Given the description of an element on the screen output the (x, y) to click on. 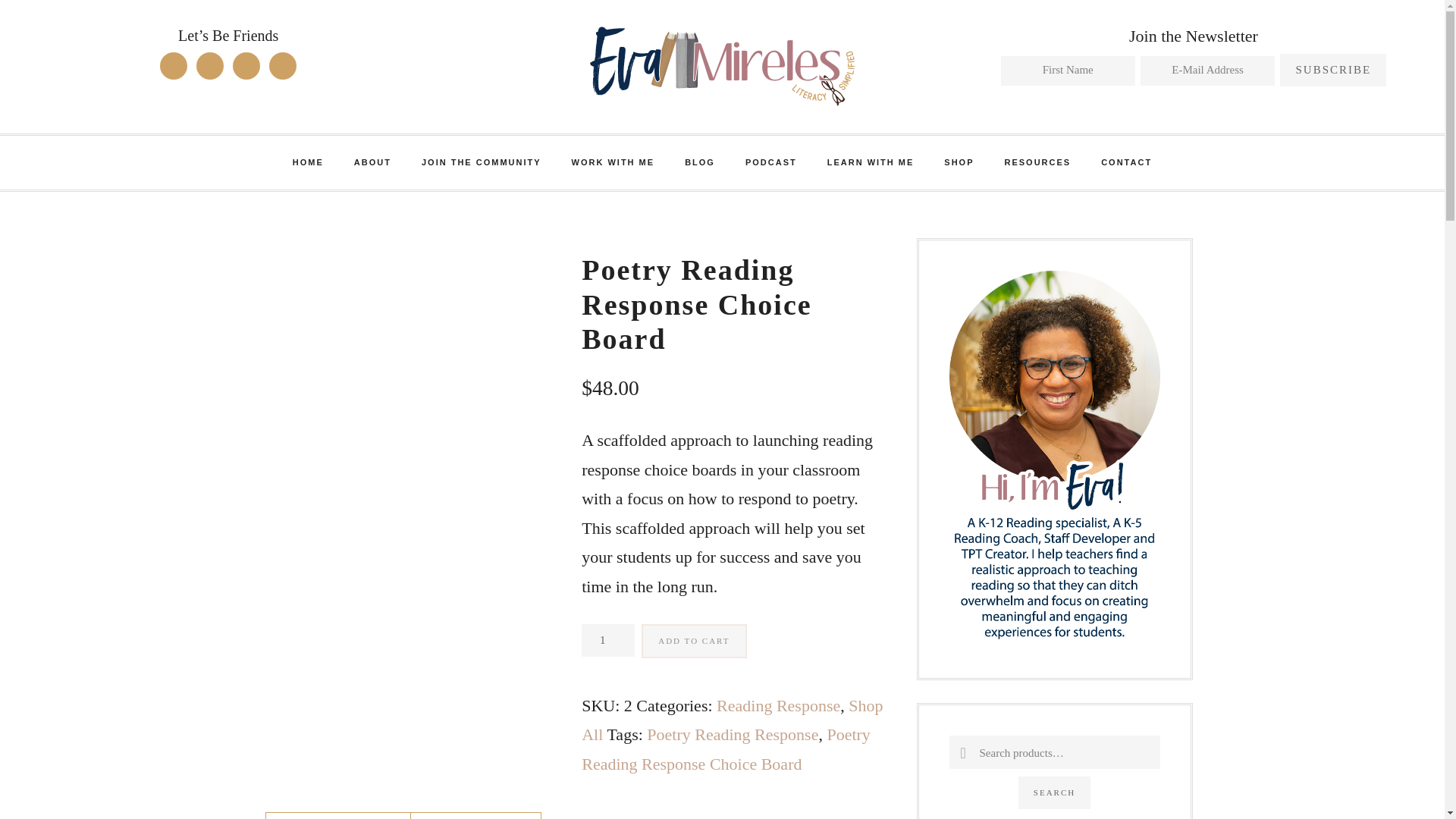
BLOG (699, 162)
EVA MIRELES (721, 65)
Subscribe (1332, 70)
RESOURCES (1037, 162)
HOME (308, 162)
WORK WITH ME (612, 162)
Reading Response (778, 705)
Subscribe (1332, 70)
SHOP (958, 162)
